Given the description of an element on the screen output the (x, y) to click on. 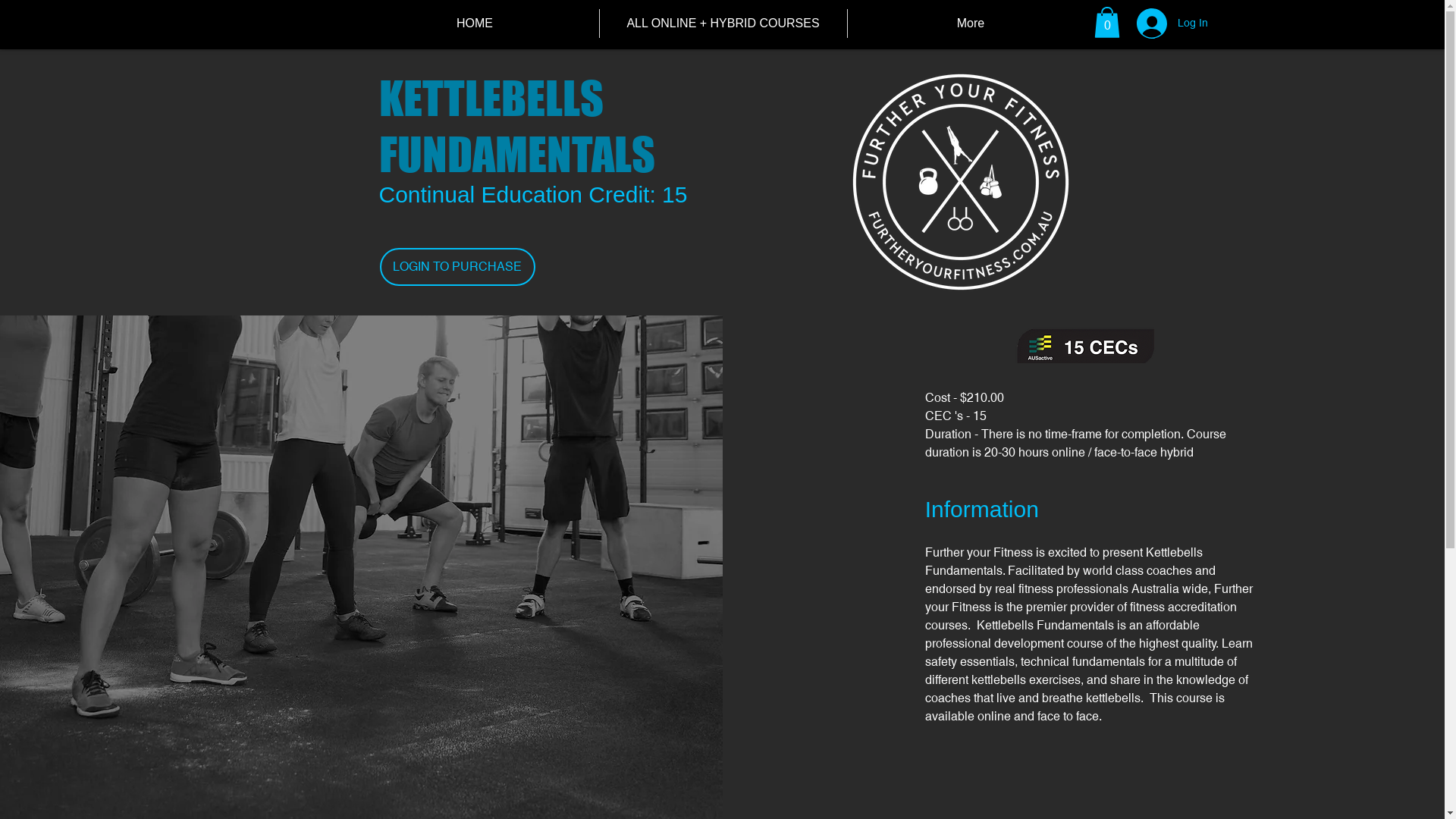
Log In Element type: text (1156, 23)
endorsed by real fitness professionals Australia wide Element type: text (1066, 588)
0 Element type: text (1106, 21)
ALL ONLINE + HYBRID COURSES Element type: text (722, 23)
HOME Element type: text (474, 23)
LOGIN TO PURCHASE Element type: text (456, 266)
